Given the description of an element on the screen output the (x, y) to click on. 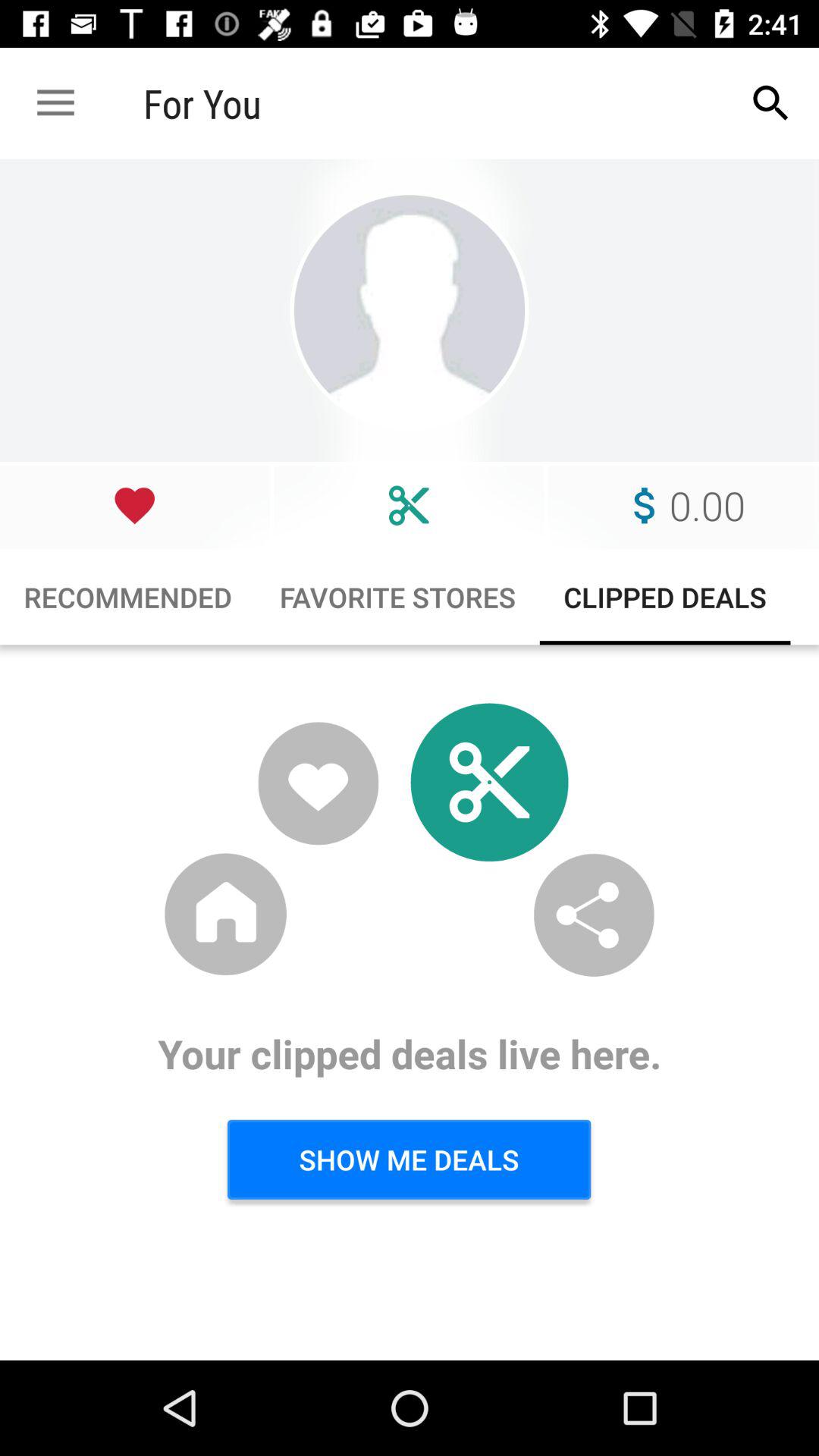
click item below your clipped deals (408, 1159)
